Given the description of an element on the screen output the (x, y) to click on. 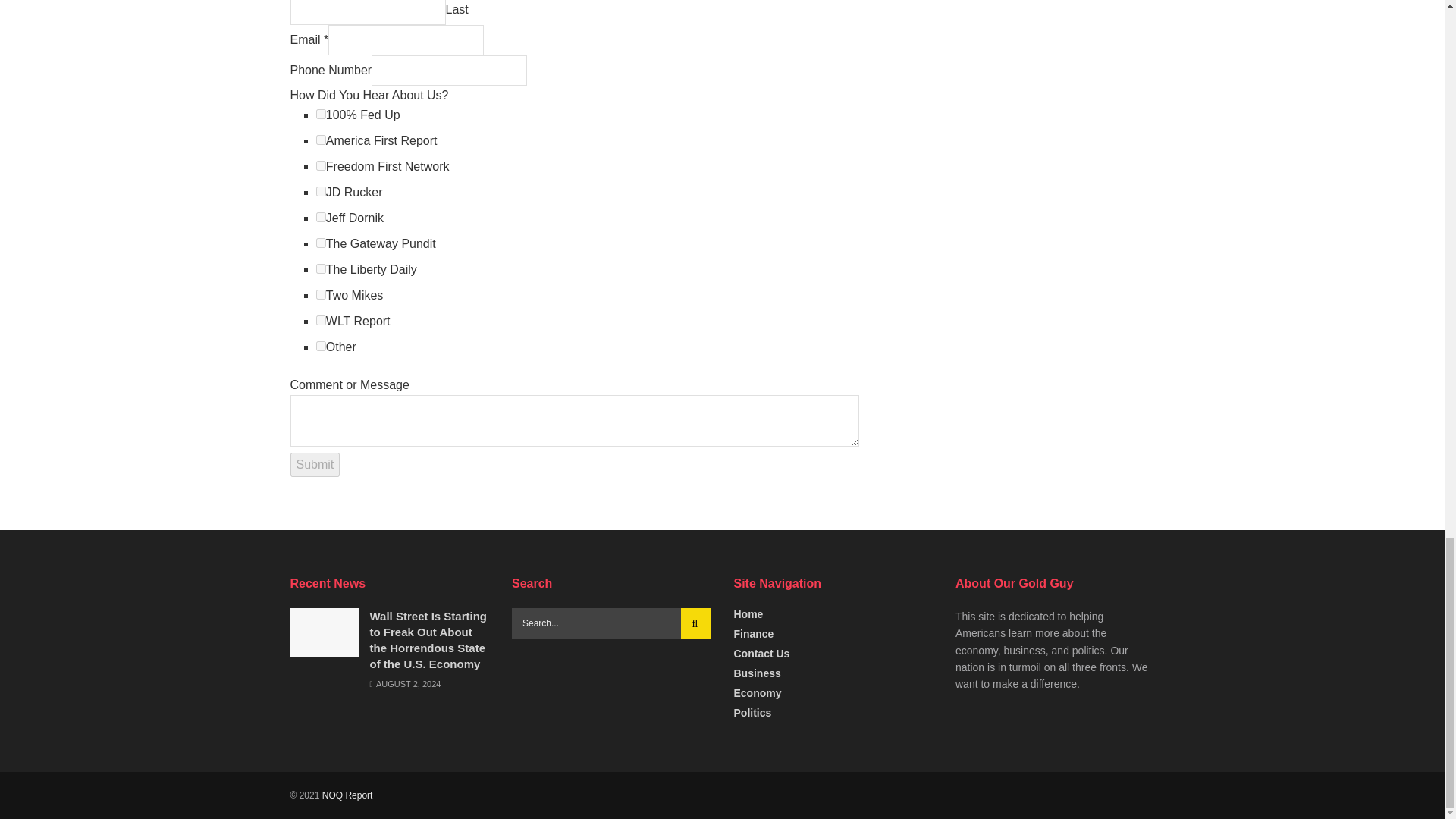
Freedom First Network (320, 165)
Other (320, 346)
Two Mikes (320, 294)
The Gateway Pundit (320, 243)
WLT Report (320, 320)
America First Report (320, 139)
Jeff Dornik (320, 216)
JD Rucker (320, 191)
NOQ Report (346, 795)
The Liberty Daily (320, 268)
